Given the description of an element on the screen output the (x, y) to click on. 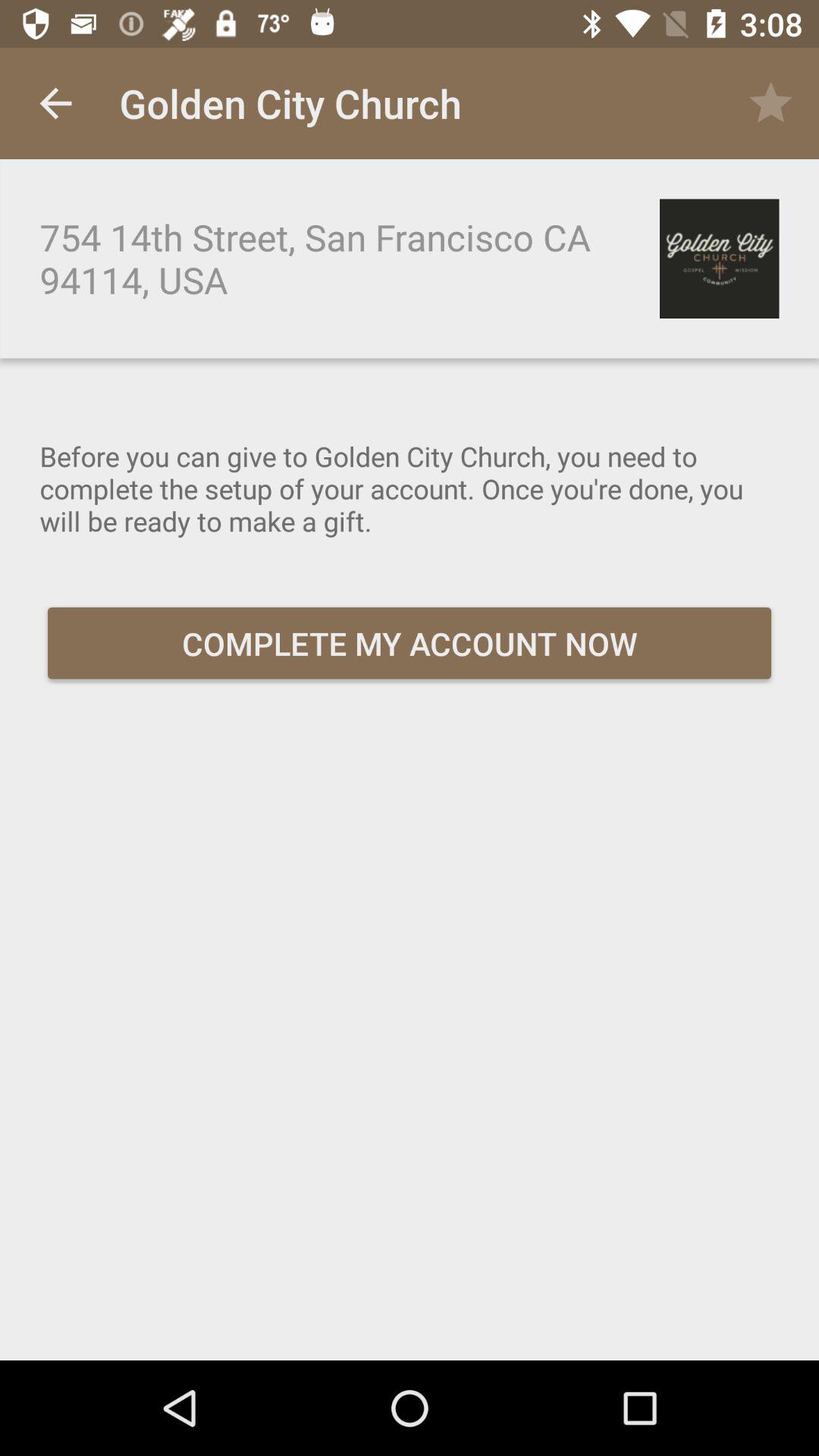
tap the icon next to golden city church (55, 103)
